Given the description of an element on the screen output the (x, y) to click on. 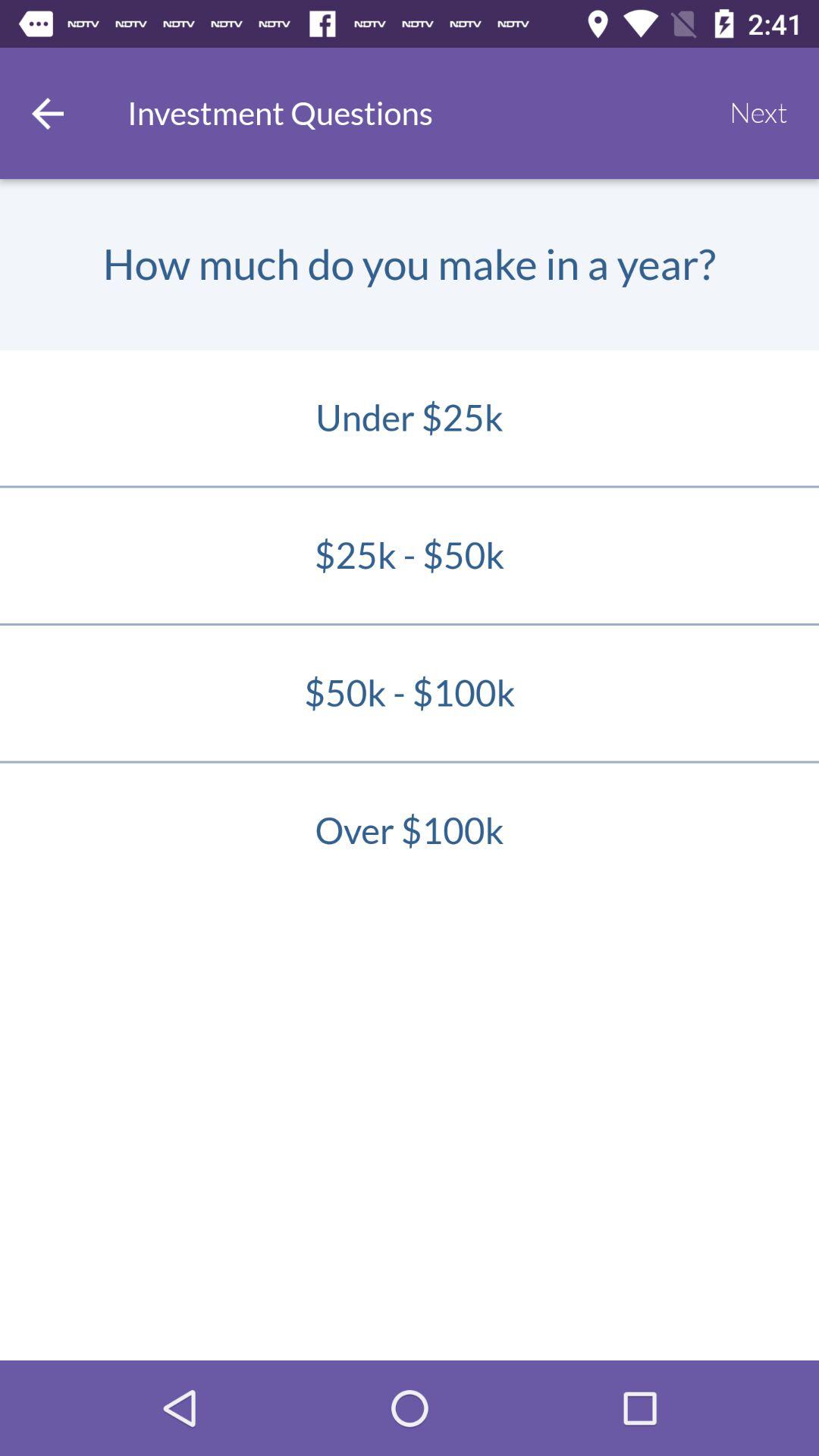
launch the item next to investment questions (758, 113)
